Given the description of an element on the screen output the (x, y) to click on. 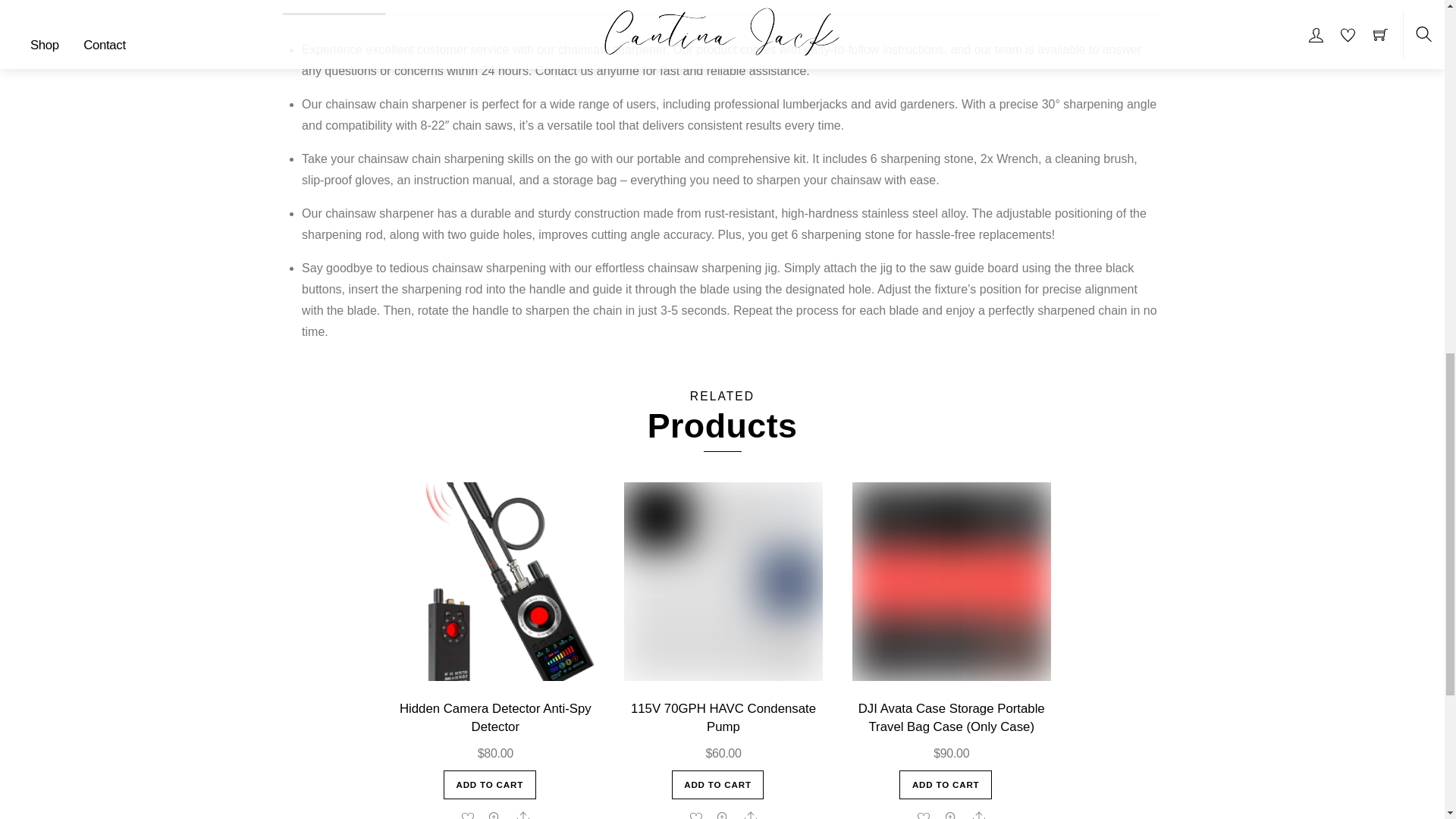
DESCRIPTION (333, 7)
